Given the description of an element on the screen output the (x, y) to click on. 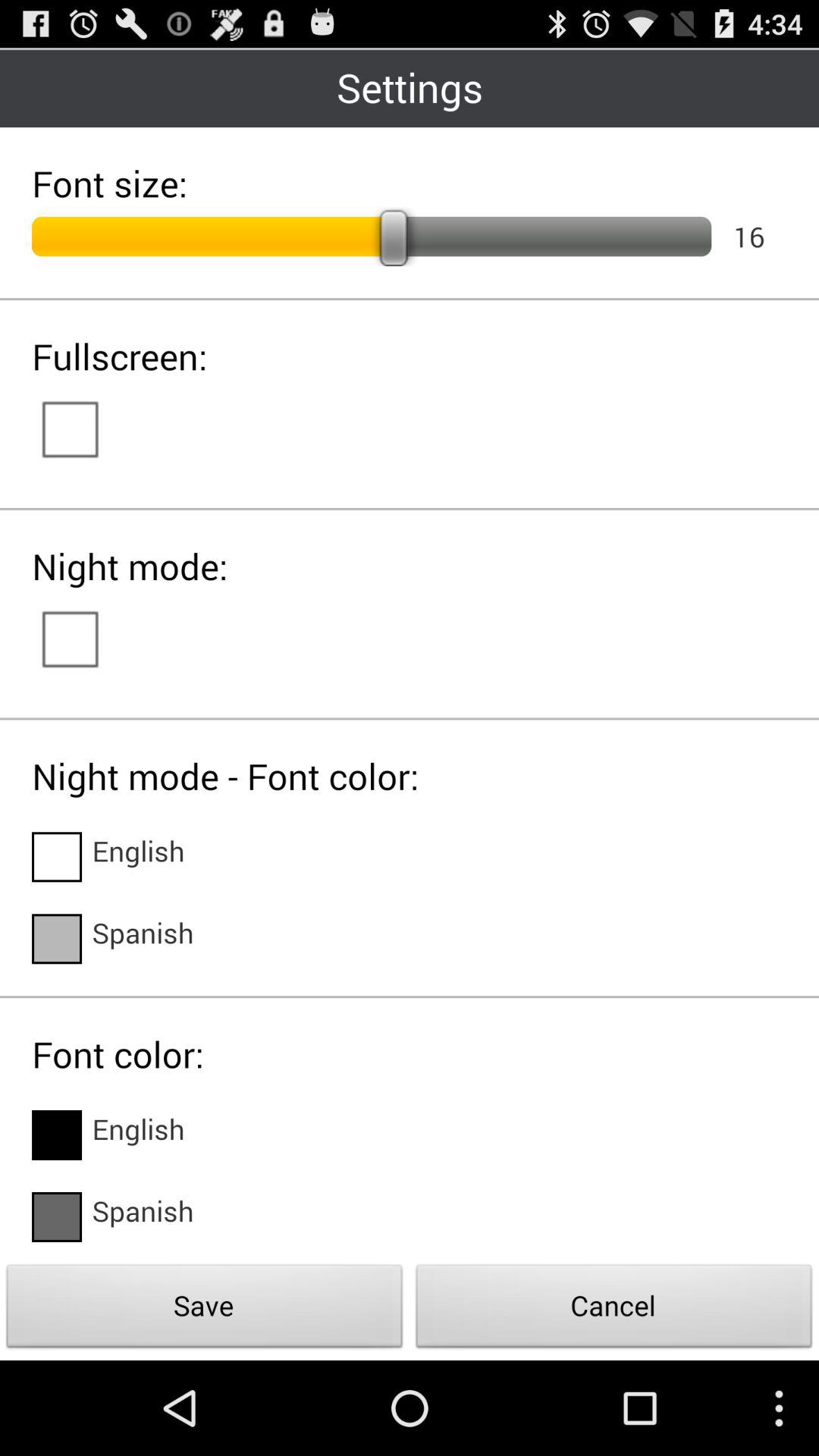
tap the item next to the cancel (204, 1310)
